Given the description of an element on the screen output the (x, y) to click on. 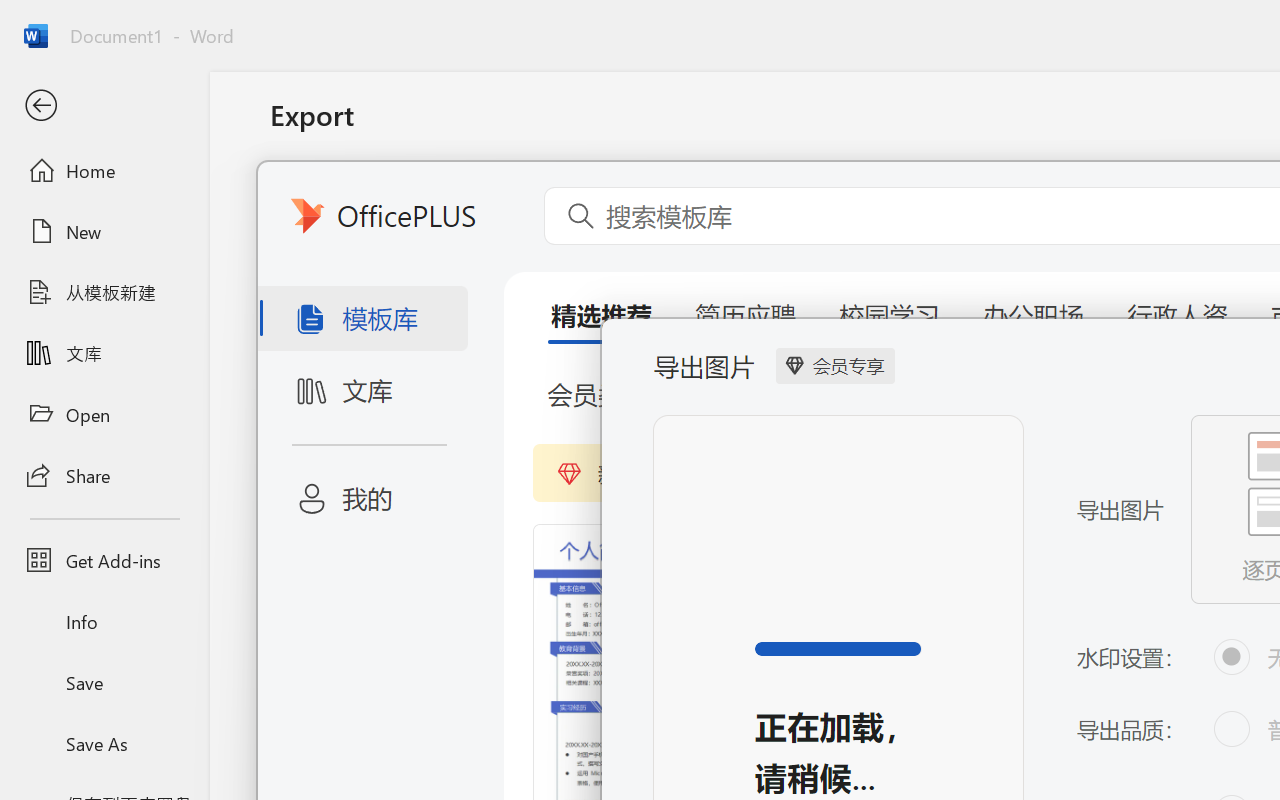
New (104, 231)
Back (104, 106)
Create PDF/XPS Document (507, 205)
Get Add-ins (104, 560)
Info (104, 621)
Save As (104, 743)
